Given the description of an element on the screen output the (x, y) to click on. 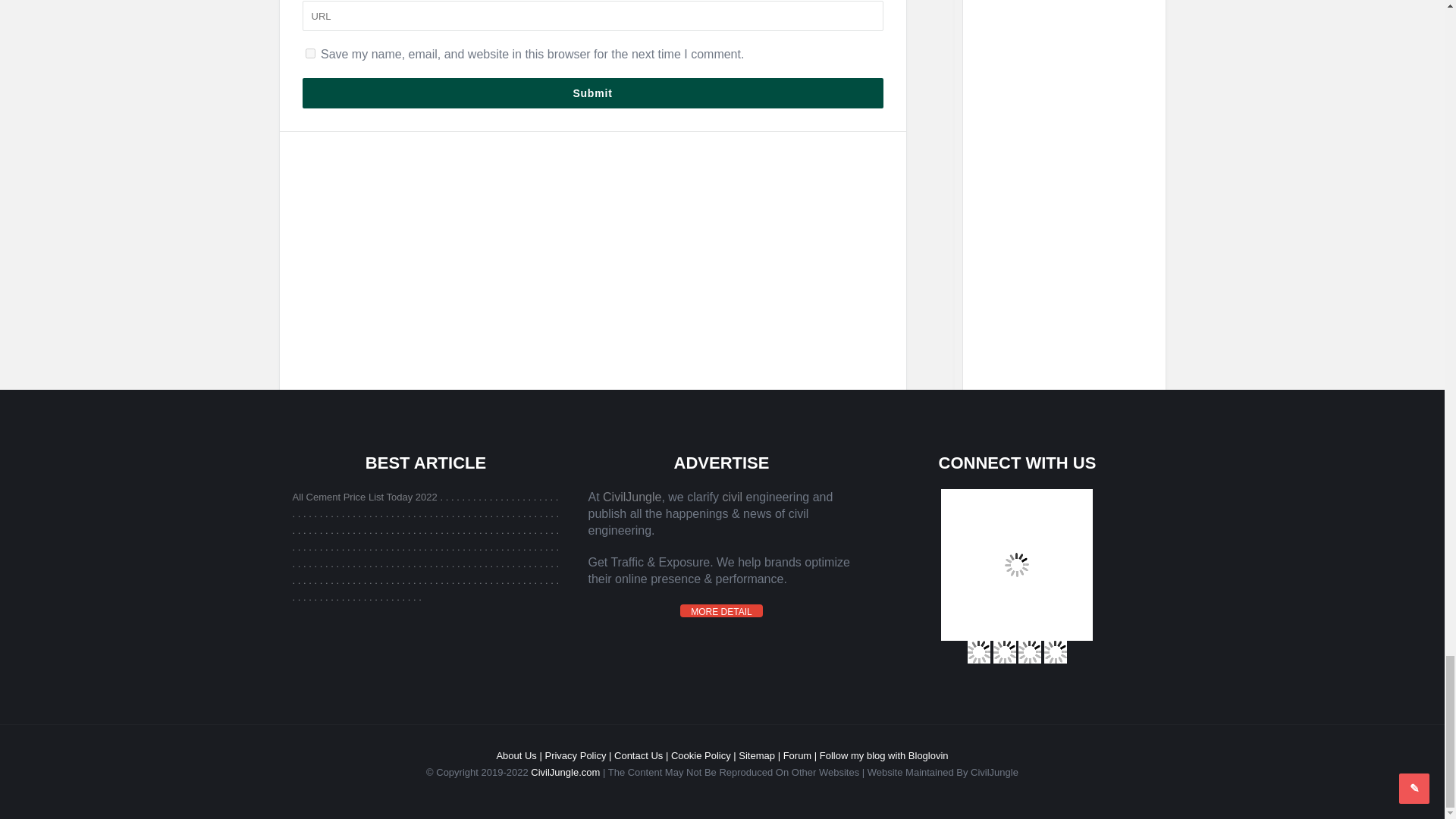
yes (309, 53)
Submit (591, 92)
